Given the description of an element on the screen output the (x, y) to click on. 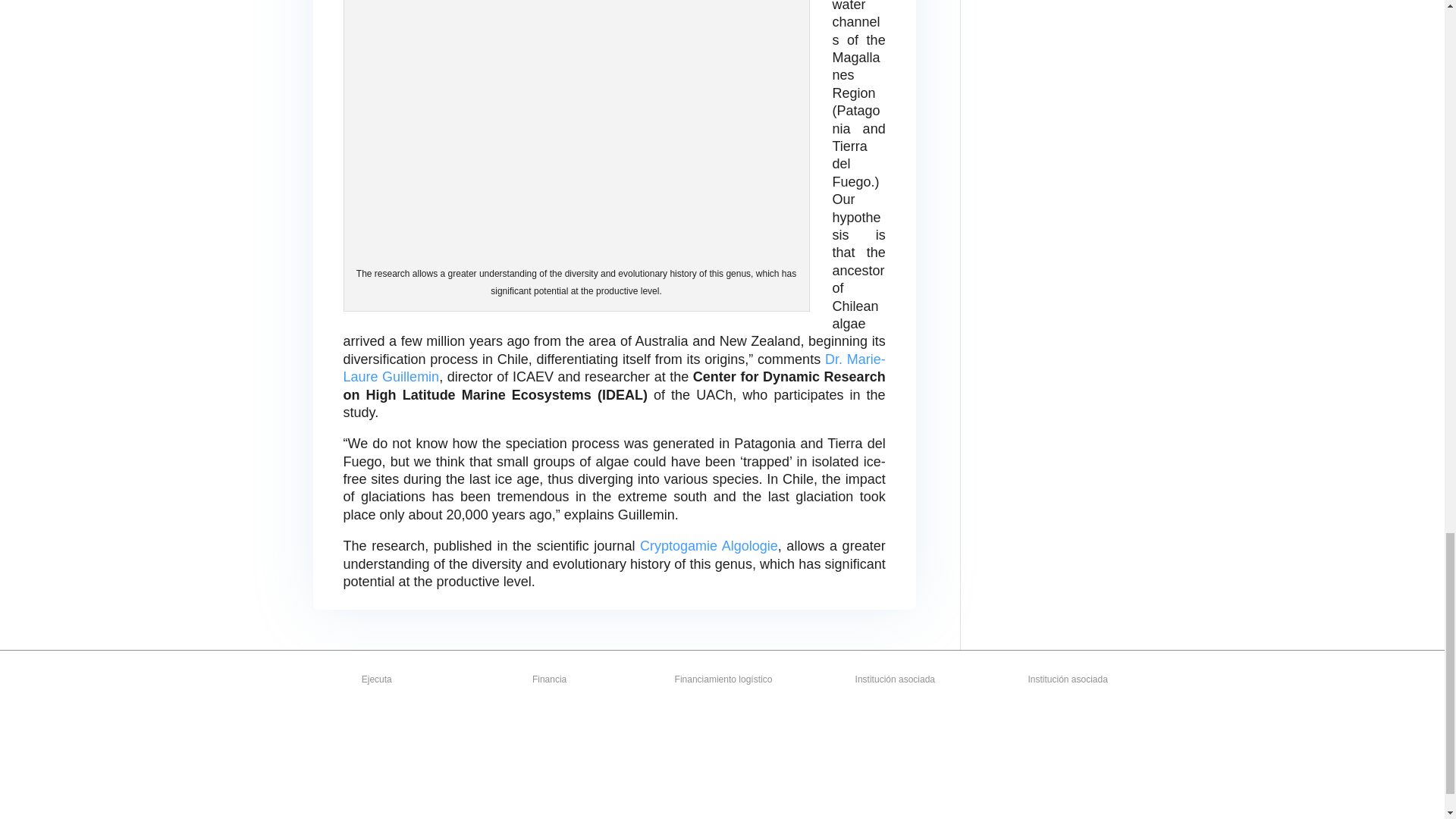
Dr. Marie-Laure Guillemin (613, 368)
Cryptogamie Algologie (708, 545)
